Given the description of an element on the screen output the (x, y) to click on. 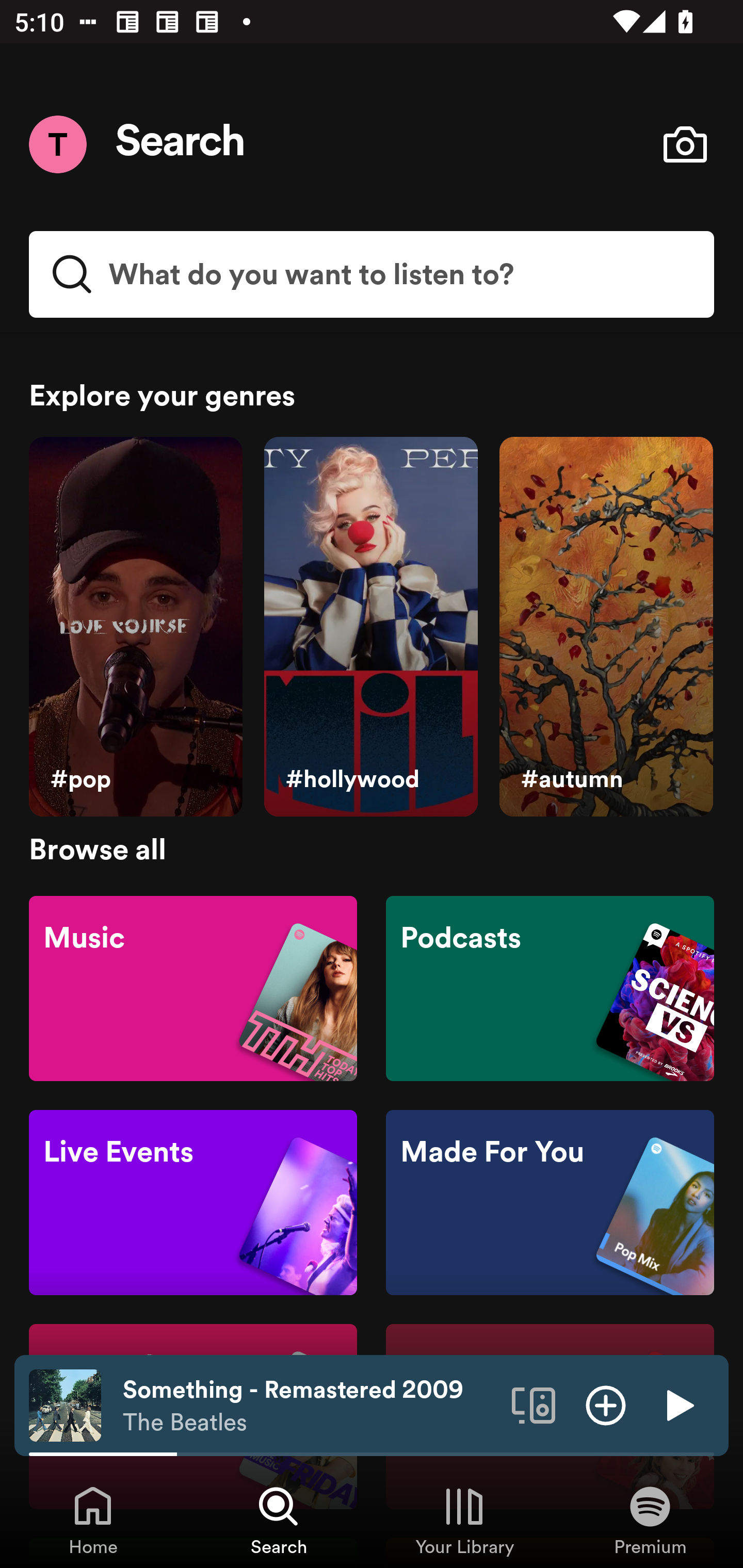
Menu (57, 144)
Open camera (685, 145)
Search (180, 144)
#pop (135, 626)
#hollywood (370, 626)
#autumn (606, 626)
Music (192, 987)
Podcasts (549, 987)
Live Events (192, 1202)
Made For You (549, 1202)
Something - Remastered 2009 The Beatles (309, 1405)
The cover art of the currently playing track (64, 1404)
Connect to a device. Opens the devices menu (533, 1404)
Add item (605, 1404)
Play (677, 1404)
Home, Tab 1 of 4 Home Home (92, 1519)
Search, Tab 2 of 4 Search Search (278, 1519)
Your Library, Tab 3 of 4 Your Library Your Library (464, 1519)
Premium, Tab 4 of 4 Premium Premium (650, 1519)
